Given the description of an element on the screen output the (x, y) to click on. 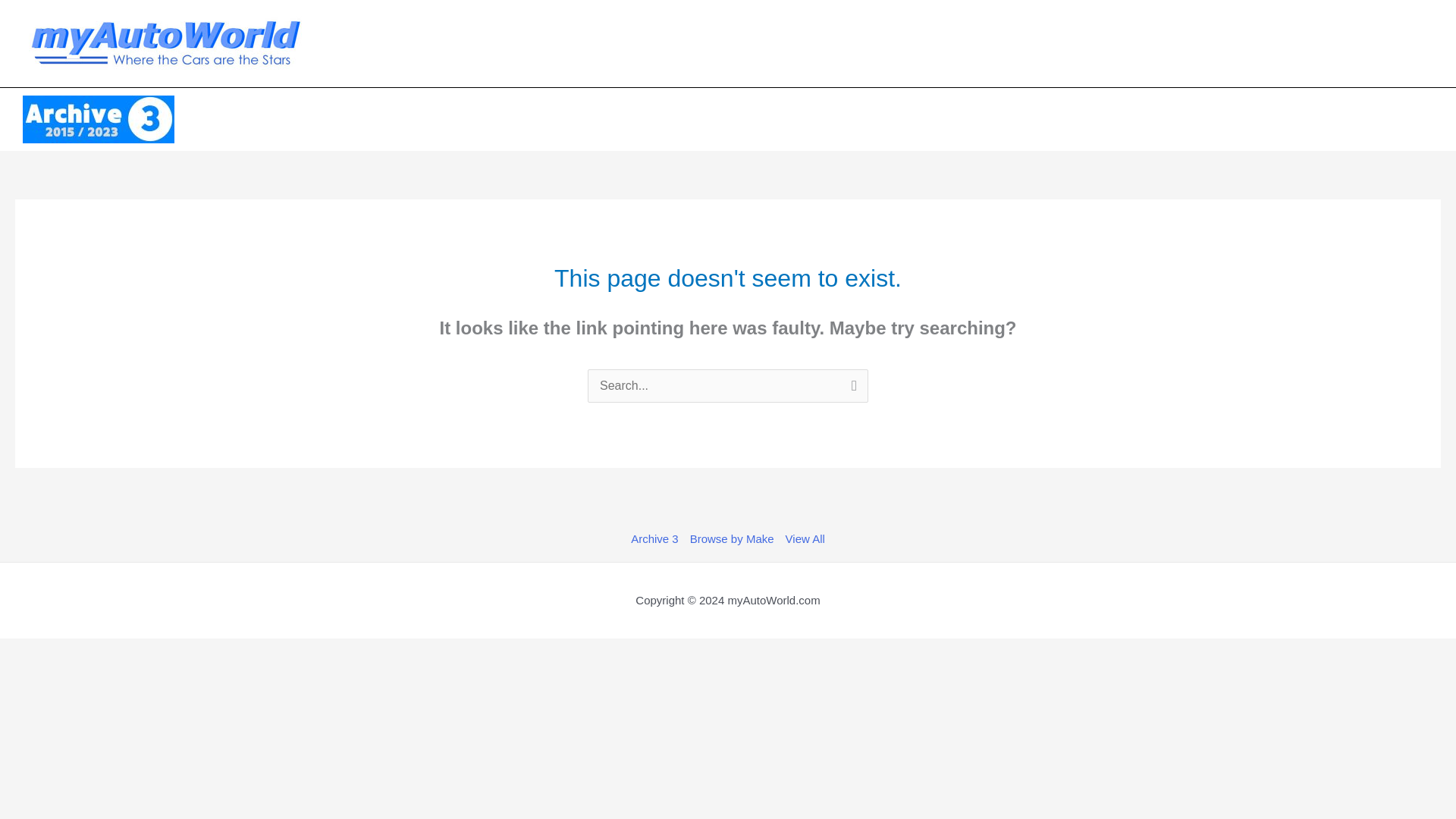
Archive 3 (657, 538)
Browse by Make (731, 538)
View All (801, 538)
myAutoWorld.com (772, 599)
